Given the description of an element on the screen output the (x, y) to click on. 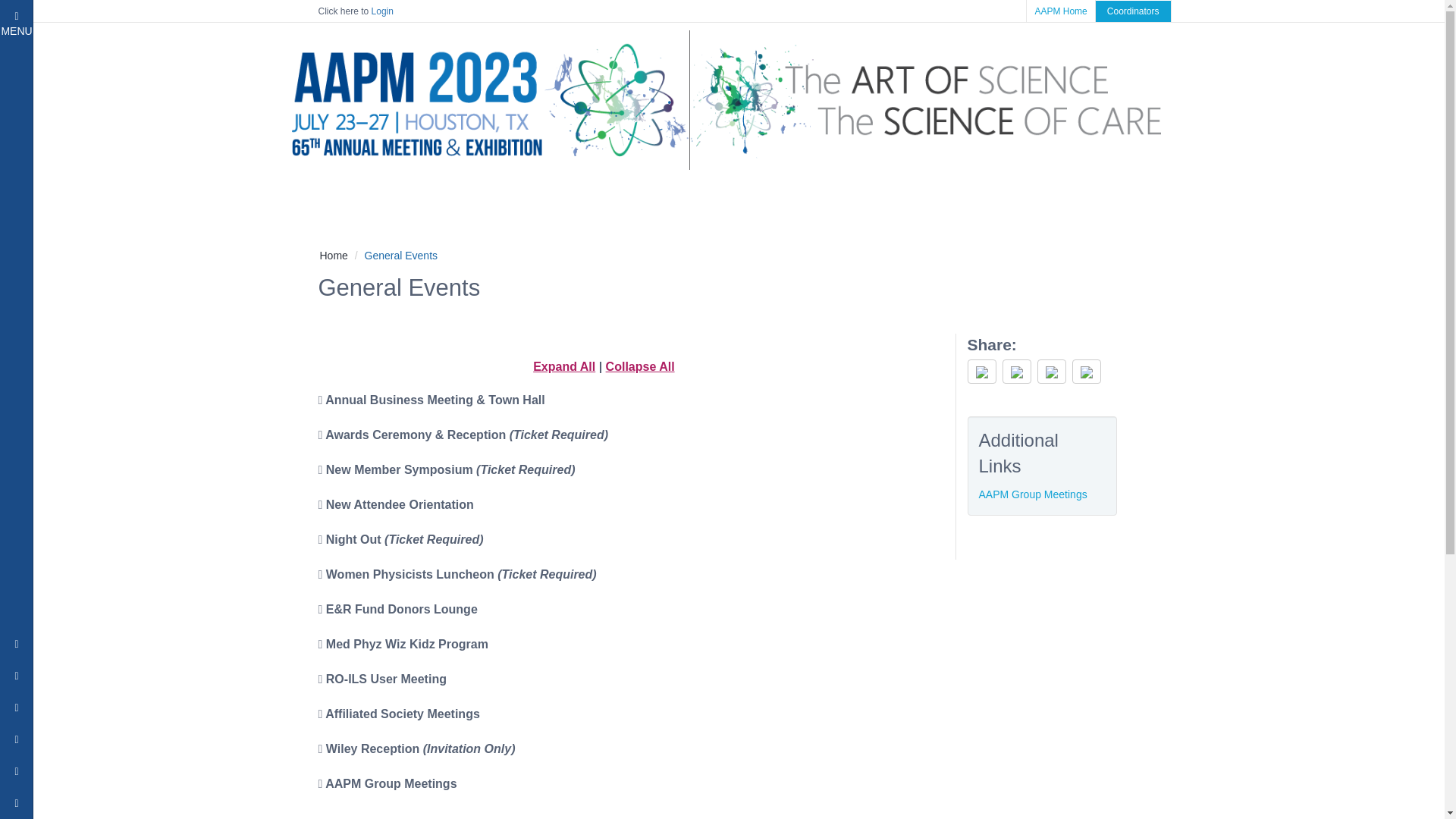
Contact Us (183, 173)
Close menu (183, 324)
Home (183, 263)
Virtual Press Room (316, 48)
CE Information (183, 81)
Health and Wellness (183, 233)
